Given the description of an element on the screen output the (x, y) to click on. 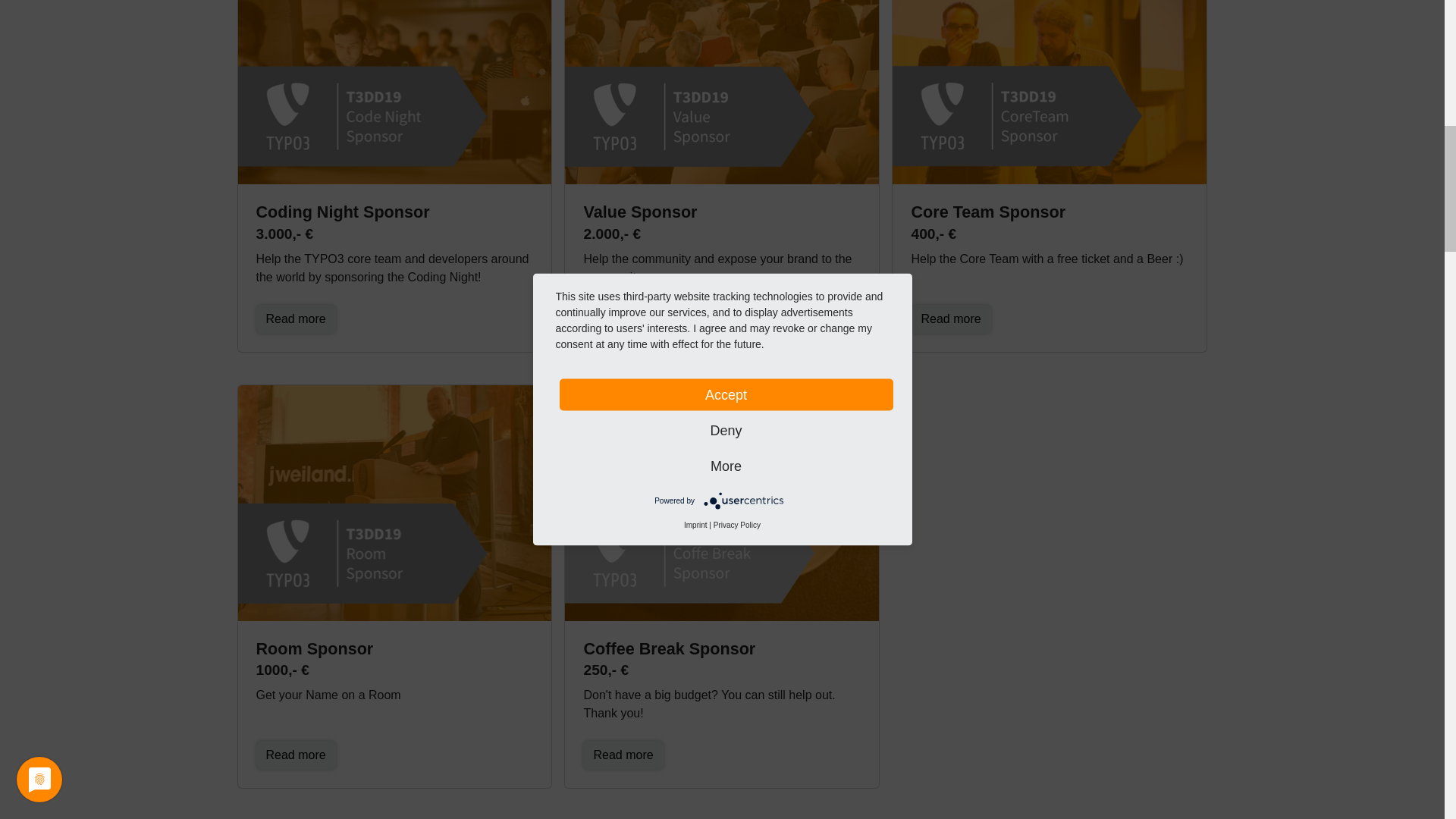
Read more (950, 318)
Read more (622, 318)
Read more (622, 755)
Read more (622, 318)
Read more (296, 318)
Read more (296, 755)
Read more (296, 755)
Read more (296, 318)
Read more (950, 318)
Read more (622, 755)
